Given the description of an element on the screen output the (x, y) to click on. 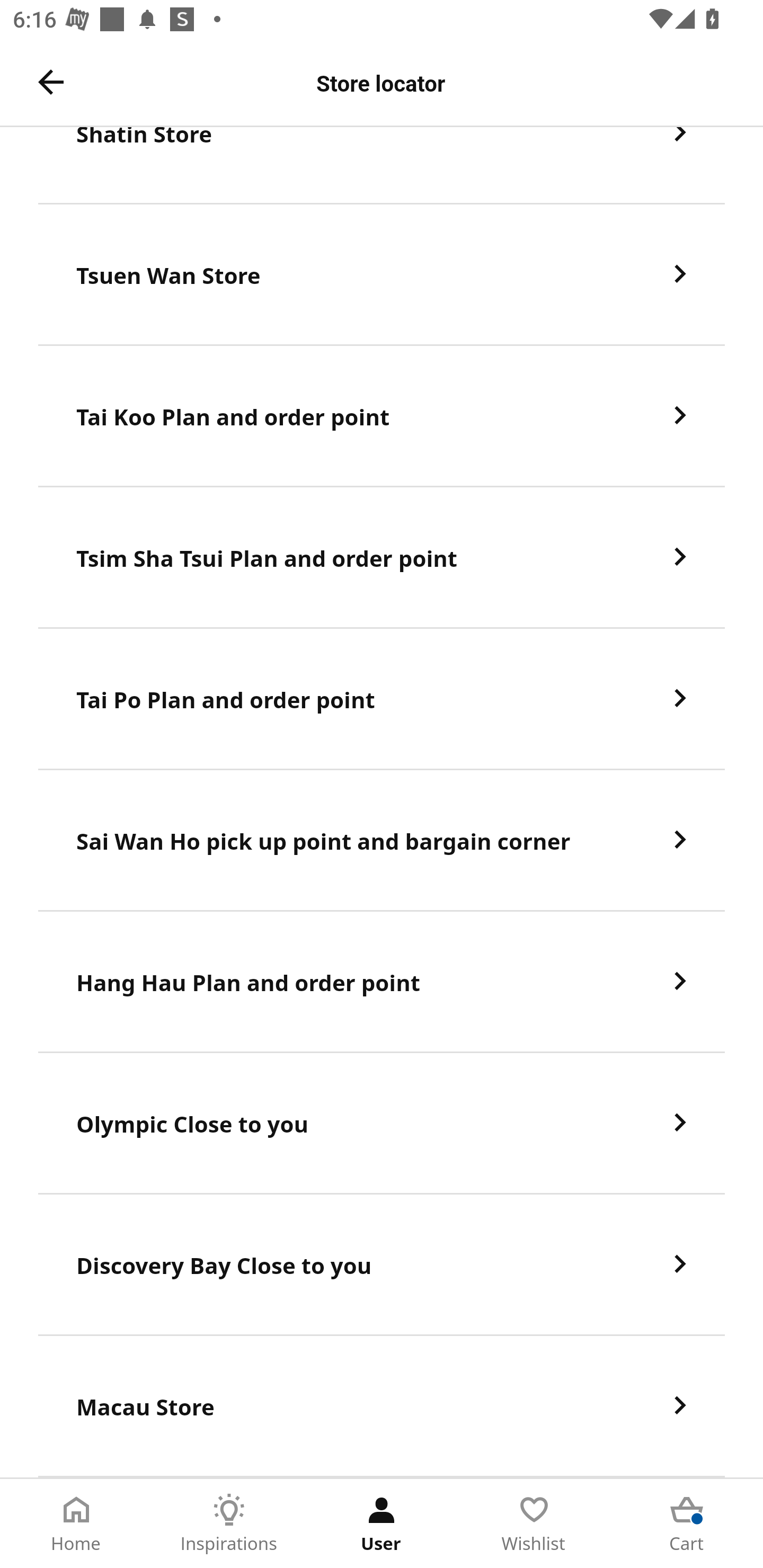
Shatin Store (381, 165)
Tsuen Wan Store (381, 274)
Tai Koo Plan and order point (381, 416)
Tsim Sha Tsui Plan and order point (381, 557)
Tai Po Plan and order point (381, 698)
Sai Wan Ho pick up point and bargain corner (381, 840)
Hang Hau Plan and order point (381, 982)
Olympic Close to you (381, 1123)
Discovery Bay Close to you (381, 1264)
Macau Store (381, 1406)
Home
Tab 1 of 5 (76, 1522)
Inspirations
Tab 2 of 5 (228, 1522)
User
Tab 3 of 5 (381, 1522)
Wishlist
Tab 4 of 5 (533, 1522)
Cart
Tab 5 of 5 (686, 1522)
